Given the description of an element on the screen output the (x, y) to click on. 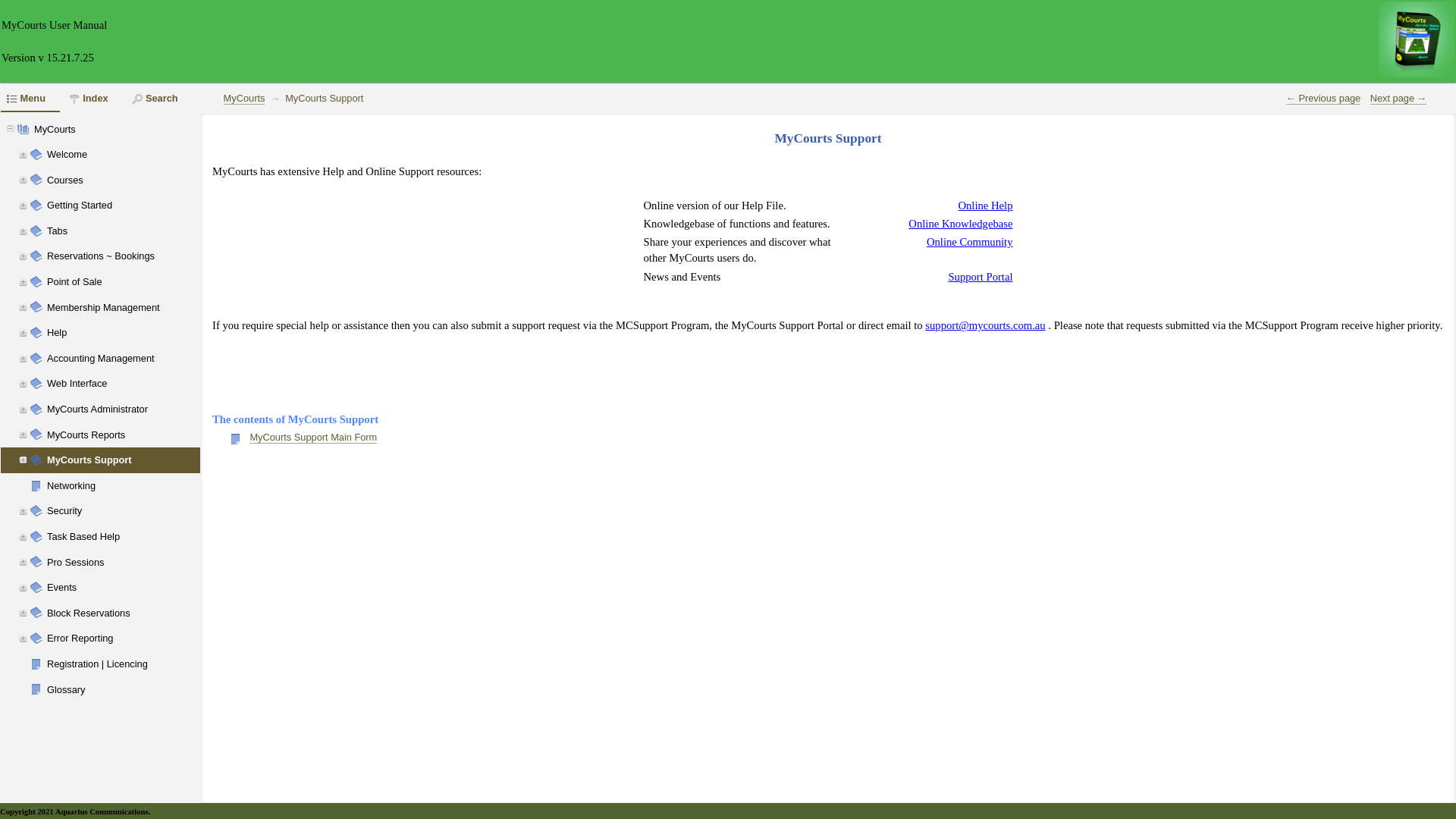
Welcome Element type: text (142, 154)
Pro Sessions Element type: text (142, 562)
Help Element type: text (142, 332)
Networking Element type: text (142, 485)
MyCourts Support Main Form Element type: text (312, 437)
Courses Element type: text (142, 180)
support@mycourts.com.au Element type: text (984, 325)
Reservations ~ Bookings Element type: text (142, 255)
Security Element type: text (142, 510)
Next page  Element type: text (1398, 98)
MyCourts Element type: text (244, 98)
Point of Sale Element type: text (142, 281)
MyCourts Administrator Element type: text (142, 409)
MyCourts Reports Element type: text (142, 434)
Accounting Management Element type: text (142, 358)
 Previous page Element type: text (1323, 98)
Web Interface Element type: text (142, 383)
Online Help Element type: text (984, 205)
Getting Started Element type: text (142, 205)
Error Reporting Element type: text (142, 638)
MyCourts Element type: text (129, 129)
Events Element type: text (142, 587)
Online Knowledgebase Element type: text (960, 223)
Support Portal Element type: text (979, 276)
Membership Management Element type: text (142, 307)
Glossary Element type: text (142, 689)
Task Based Help Element type: text (142, 536)
Tabs Element type: text (142, 230)
Block Reservations Element type: text (142, 613)
Online Community Element type: text (969, 241)
Registration | Licencing Element type: text (142, 663)
